Given the description of an element on the screen output the (x, y) to click on. 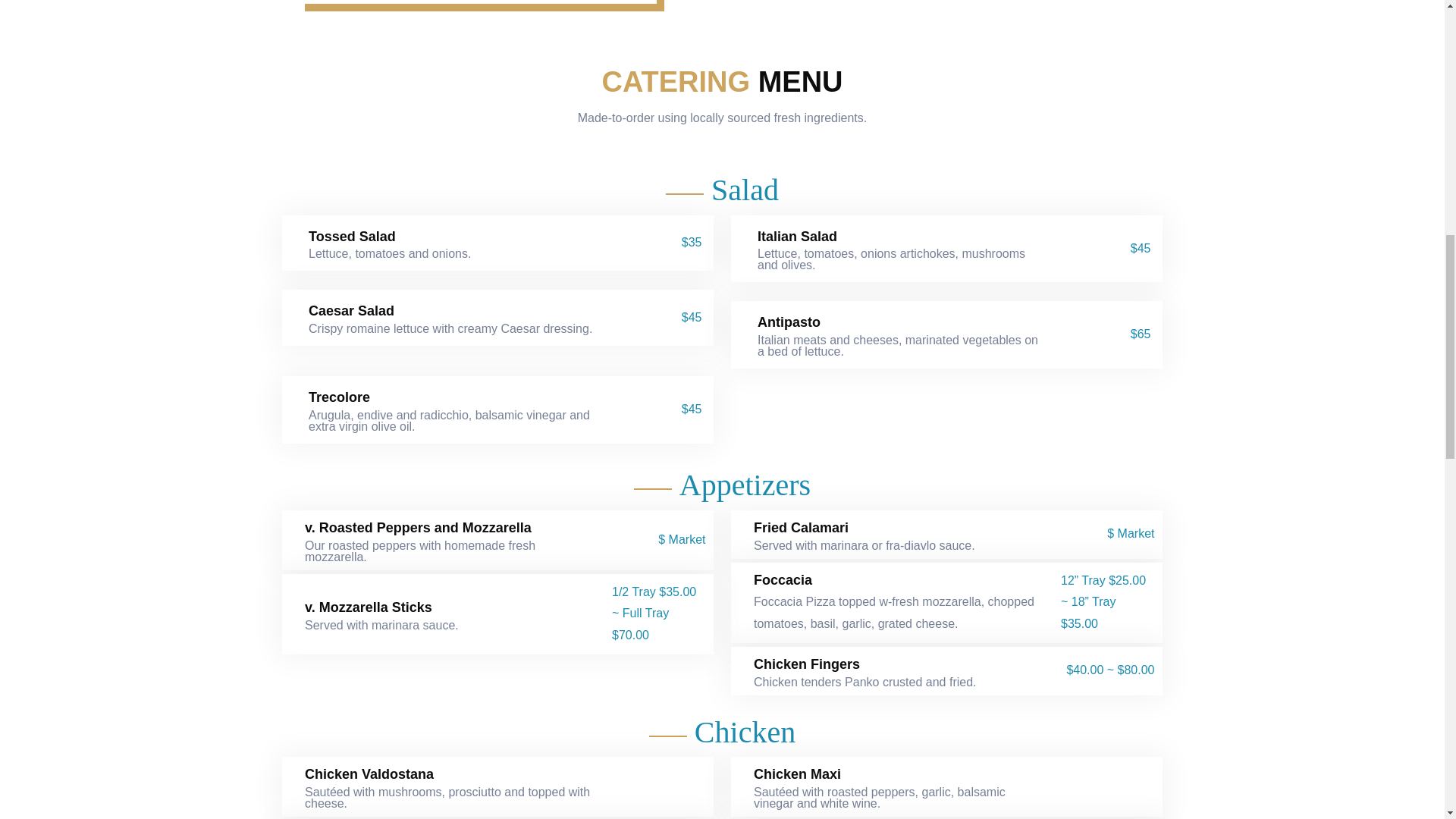
v. Roasted Peppers and Mozzarella (417, 528)
Chicken Maxi (797, 774)
v. Mozzarella Sticks (368, 607)
Chicken Fingers (807, 664)
Caesar Salad (351, 311)
Chicken Valdostana (368, 774)
Italian Salad (797, 237)
Trecolore (338, 397)
Foccacia (783, 580)
Fried Calamari (801, 528)
Antipasto (789, 322)
Tossed Salad (352, 237)
